Given the description of an element on the screen output the (x, y) to click on. 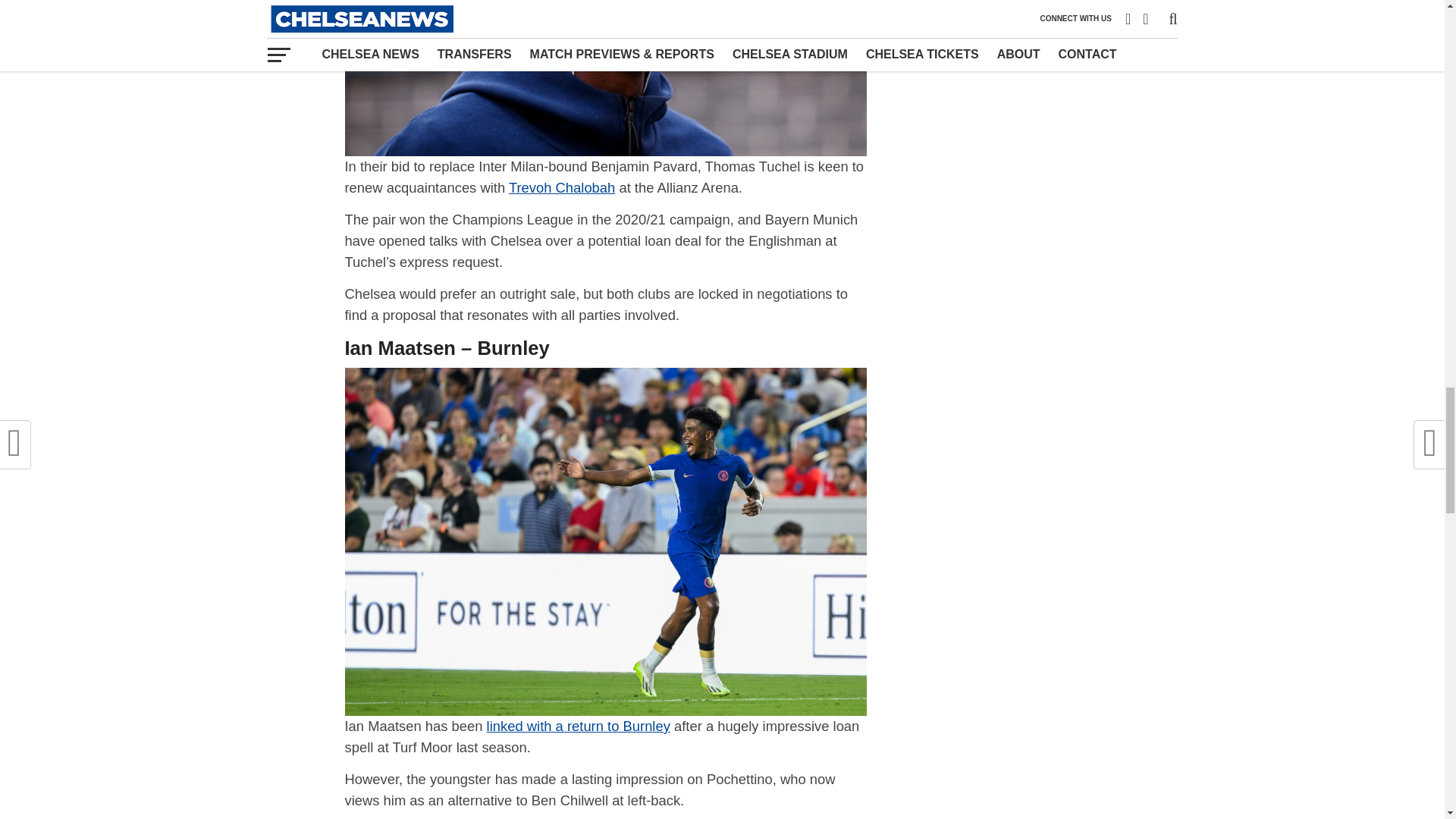
linked with a return to Burnley (577, 725)
Trevoh Chalobah (561, 187)
